Given the description of an element on the screen output the (x, y) to click on. 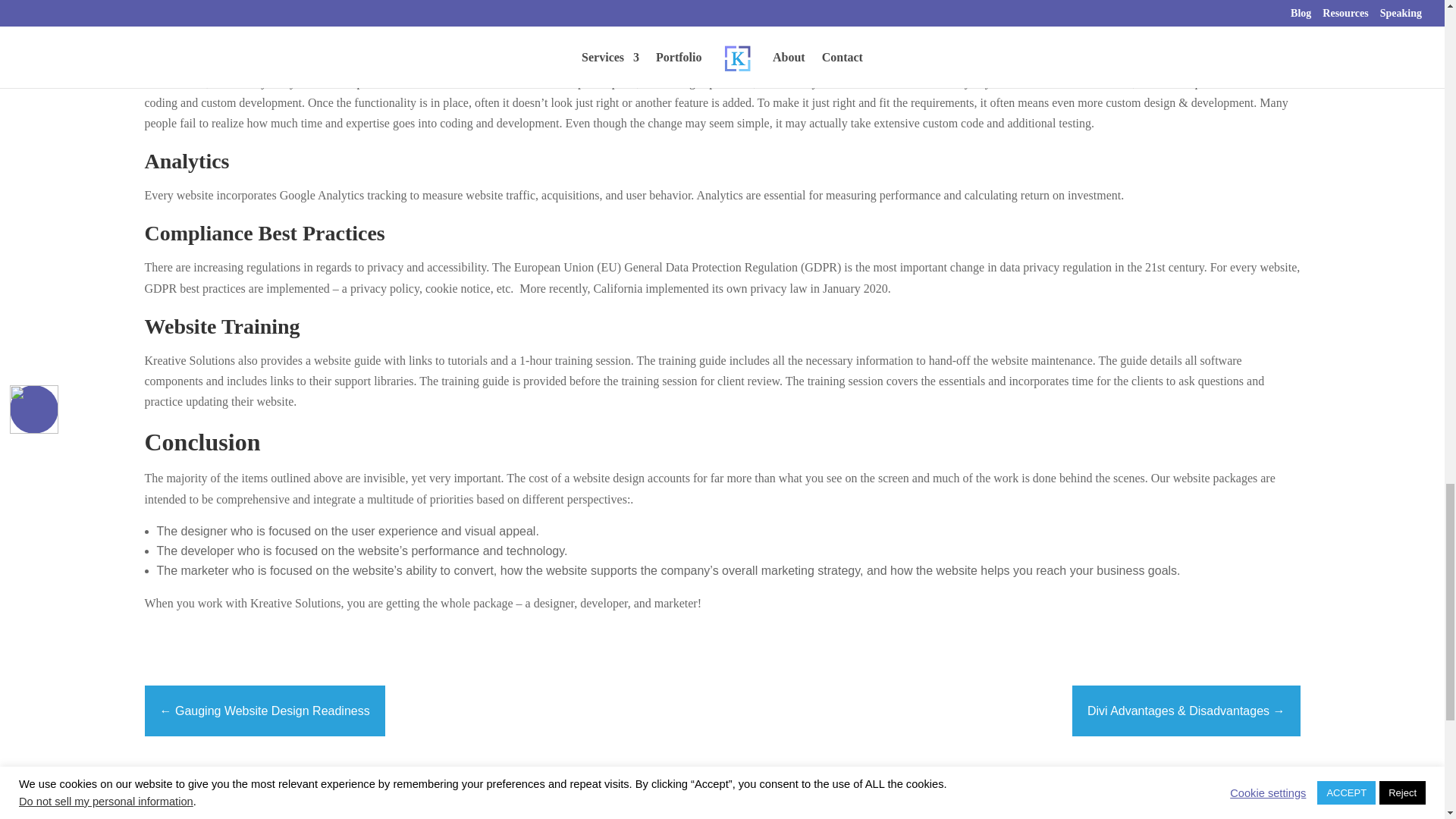
bundling SEO with your website design or redesign (341, 10)
